Given the description of an element on the screen output the (x, y) to click on. 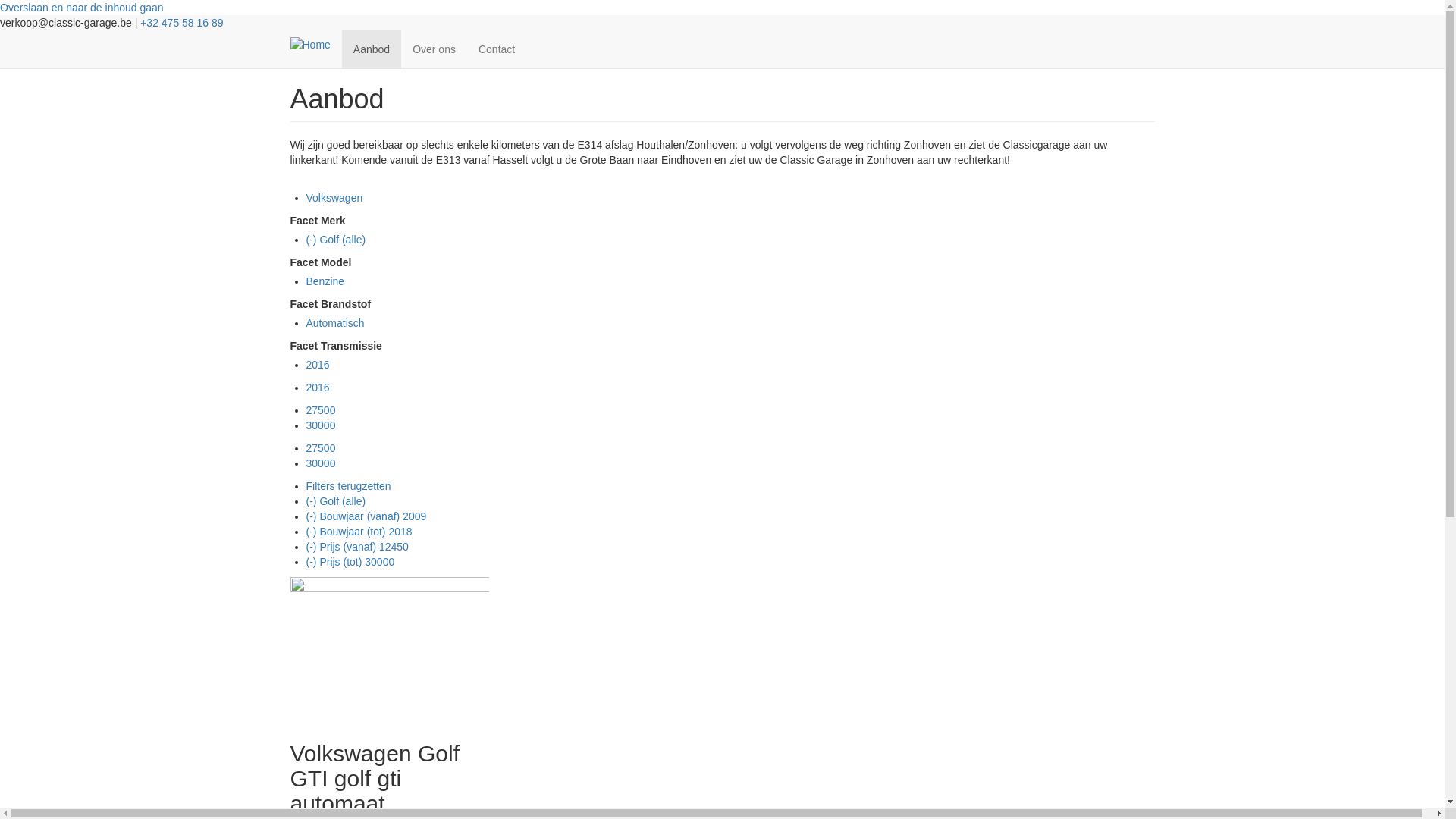
2016 Element type: text (317, 387)
27500 Element type: text (320, 448)
+32 475 58 16 89 Element type: text (181, 22)
Over ons Element type: text (434, 49)
(-) Bouwjaar (vanaf) 2009 Element type: text (366, 516)
(-) Prijs (tot) 30000 Element type: text (350, 561)
2016 Element type: text (317, 364)
(-) Prijs (vanaf) 12450 Element type: text (357, 546)
30000 Element type: text (320, 463)
Benzine Element type: text (325, 281)
Home Element type: hover (315, 44)
Automatisch Element type: text (335, 322)
Volkswagen Element type: text (334, 197)
Overslaan en naar de inhoud gaan Element type: text (81, 7)
Contact Element type: text (496, 49)
(-) Golf (alle) Element type: text (336, 501)
30000 Element type: text (320, 425)
(-) Golf (alle) Element type: text (336, 239)
Filters terugzetten Element type: text (348, 486)
27500 Element type: text (320, 410)
Aanbod Element type: text (371, 49)
(-) Bouwjaar (tot) 2018 Element type: text (359, 531)
